Given the description of an element on the screen output the (x, y) to click on. 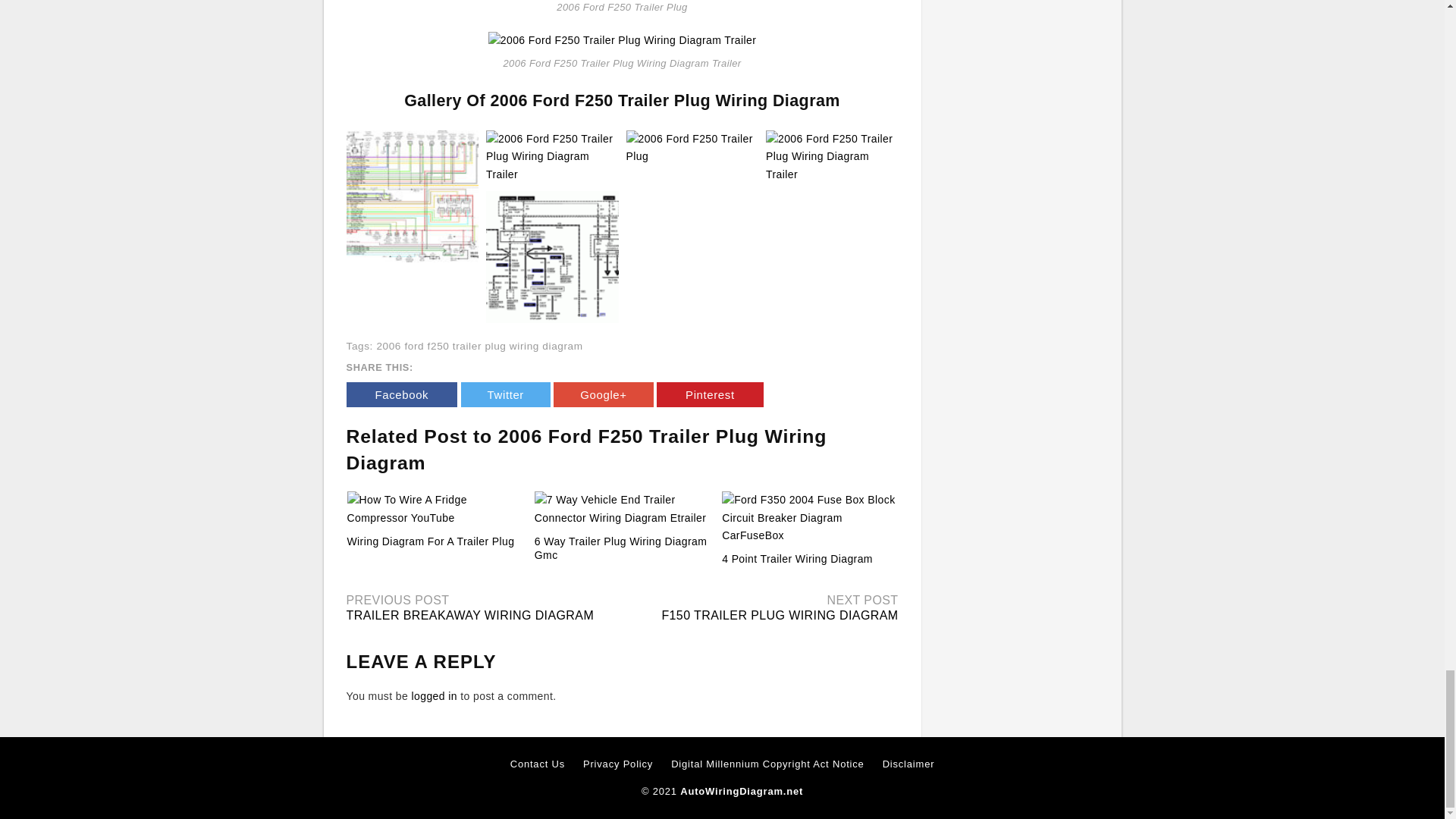
2006 ford f250 trailer plug wiring diagram (478, 346)
2006 Ford F250 Trailer Plug Wiring Diagram Trailer (552, 155)
2006 Ford F250 Trailer Plug Wiring Diagram Trailer (621, 40)
2006 Ford F250 Trailer Plug Wiring Diagram Trailer (621, 39)
TRAILER BREAKAWAY WIRING DIAGRAM (470, 615)
Wiring Diagram For A Trailer Plug (431, 541)
Twitter (505, 394)
2006 Ford F250 Trailer Plug Wiring Diagram Trailer (412, 195)
6 Way Trailer Plug Wiring Diagram Gmc (620, 548)
2006 Ford F250 Trailer Plug Wiring Diagram Trailer (412, 196)
4 Point Trailer Wiring Diagram (797, 558)
Facebook (401, 394)
Pinterest (709, 394)
F150 TRAILER PLUG WIRING DIAGRAM (779, 615)
